Given the description of an element on the screen output the (x, y) to click on. 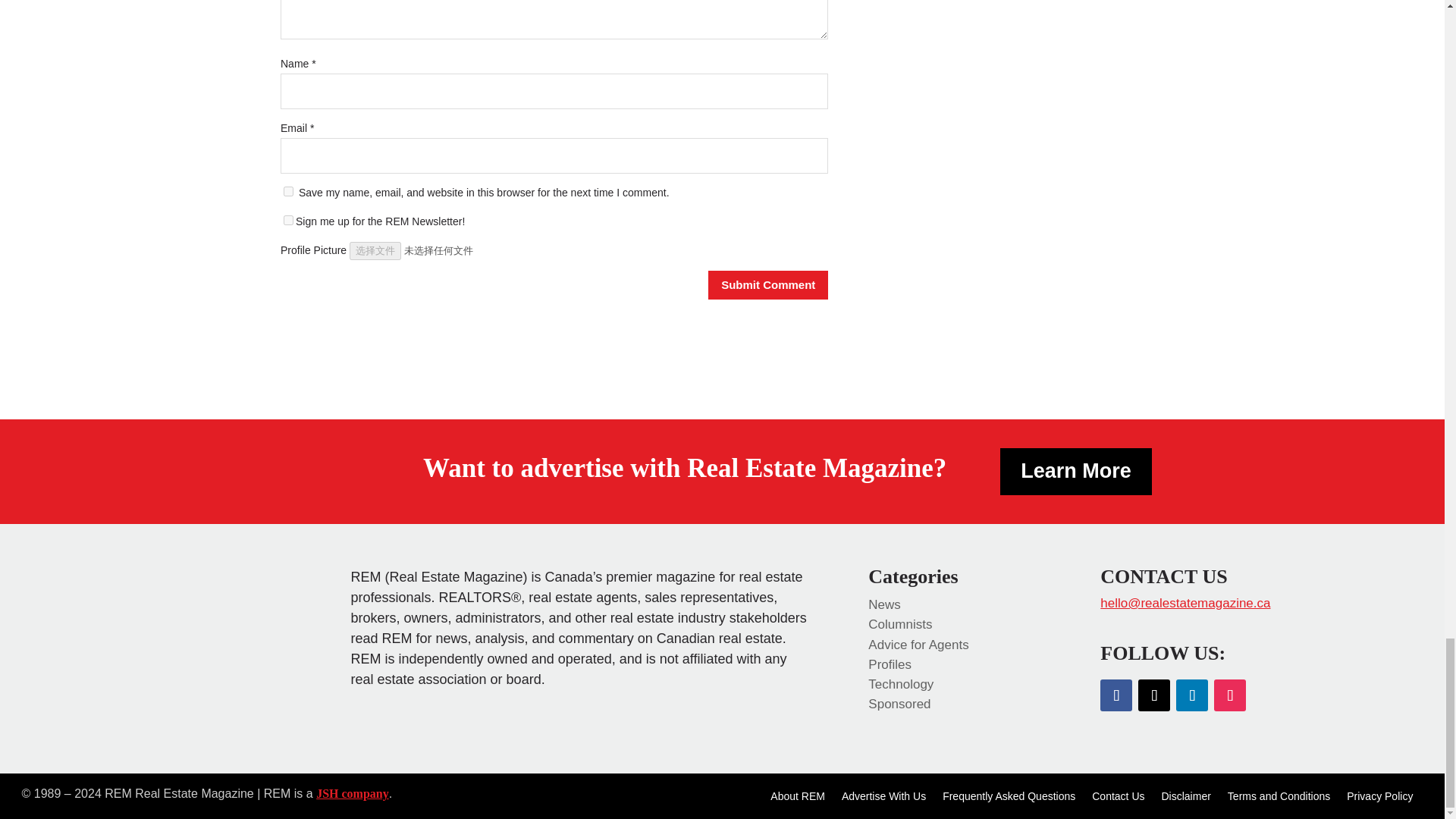
Submit Comment (767, 285)
1 (288, 220)
yes (288, 191)
